Given the description of an element on the screen output the (x, y) to click on. 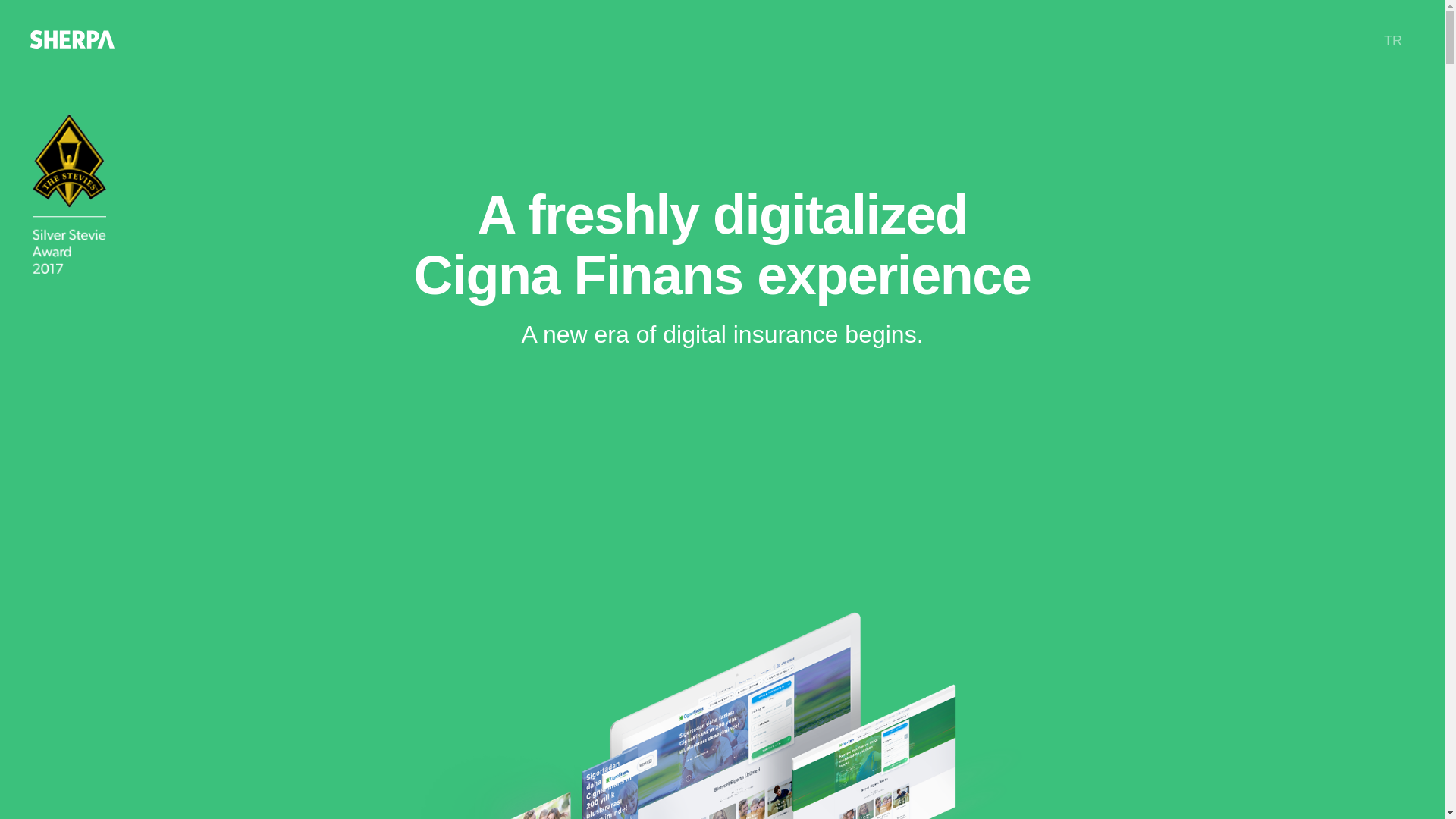
TR (1398, 40)
